Given the description of an element on the screen output the (x, y) to click on. 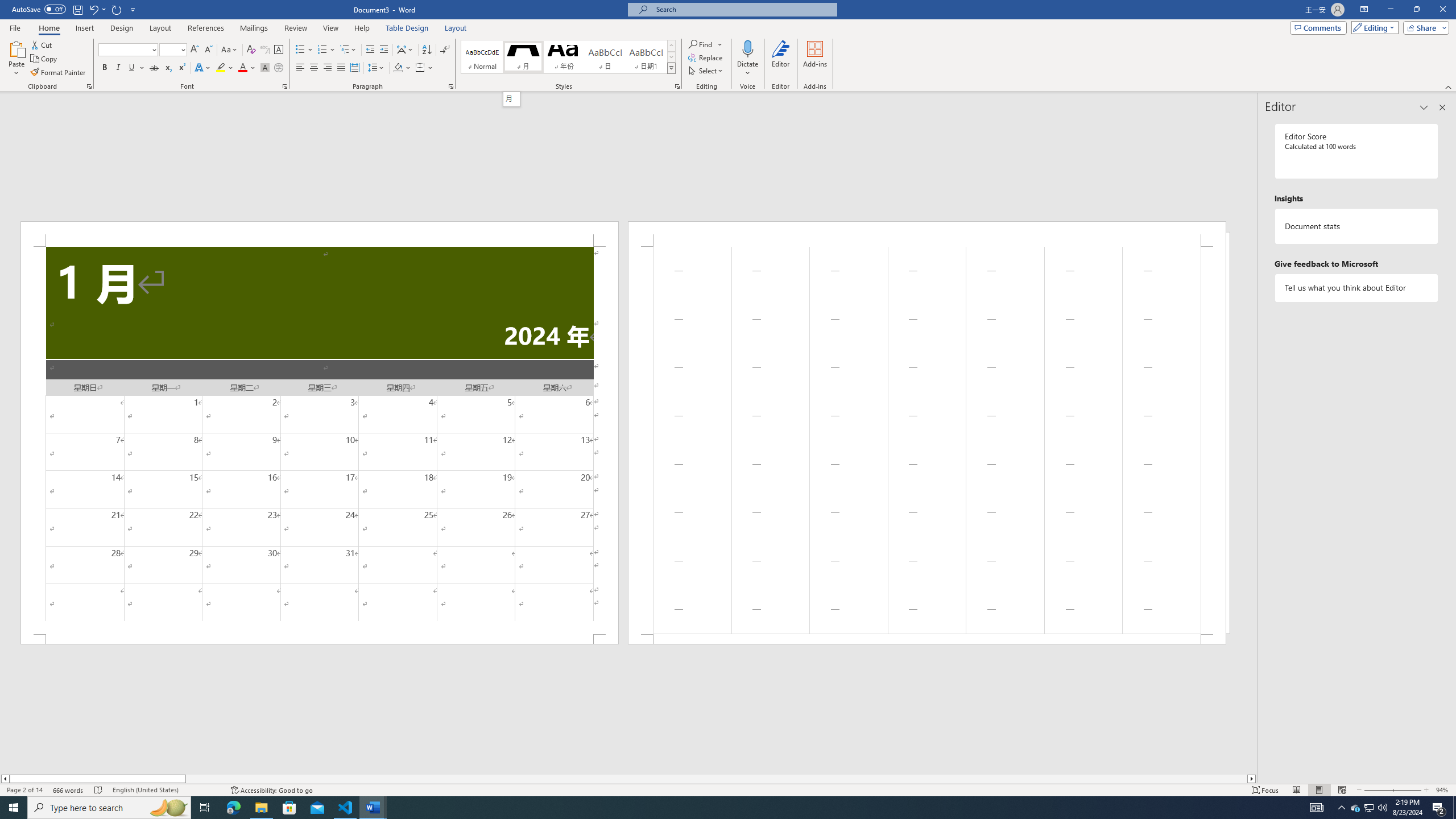
Show/Hide Editing Marks (444, 49)
Paragraph... (450, 85)
Replace... (705, 56)
Justify (340, 67)
Column right (1251, 778)
